Given the description of an element on the screen output the (x, y) to click on. 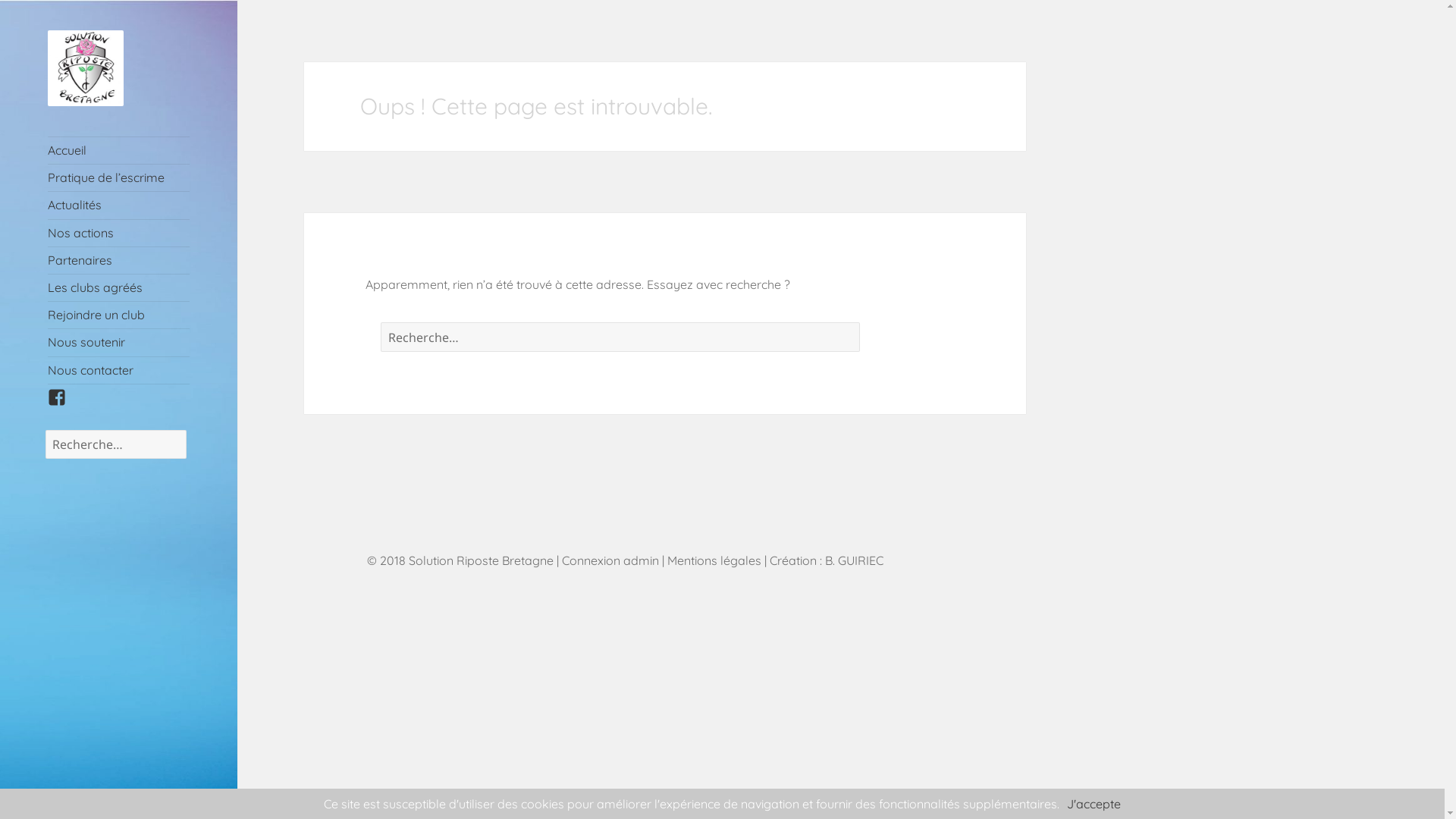
J'accepte Element type: text (1093, 803)
Nous contacter Element type: text (118, 369)
Rechercher Element type: text (201, 452)
Partenaires Element type: text (118, 260)
Rechercher Element type: text (874, 344)
Connexion admin Element type: text (609, 560)
Accueil Element type: text (118, 150)
Solution Riposte Bretagne Element type: text (93, 154)
Rejoindre un club Element type: text (118, 314)
facebook Element type: text (62, 403)
Nos actions Element type: text (118, 232)
Nous soutenir Element type: text (118, 342)
